Given the description of an element on the screen output the (x, y) to click on. 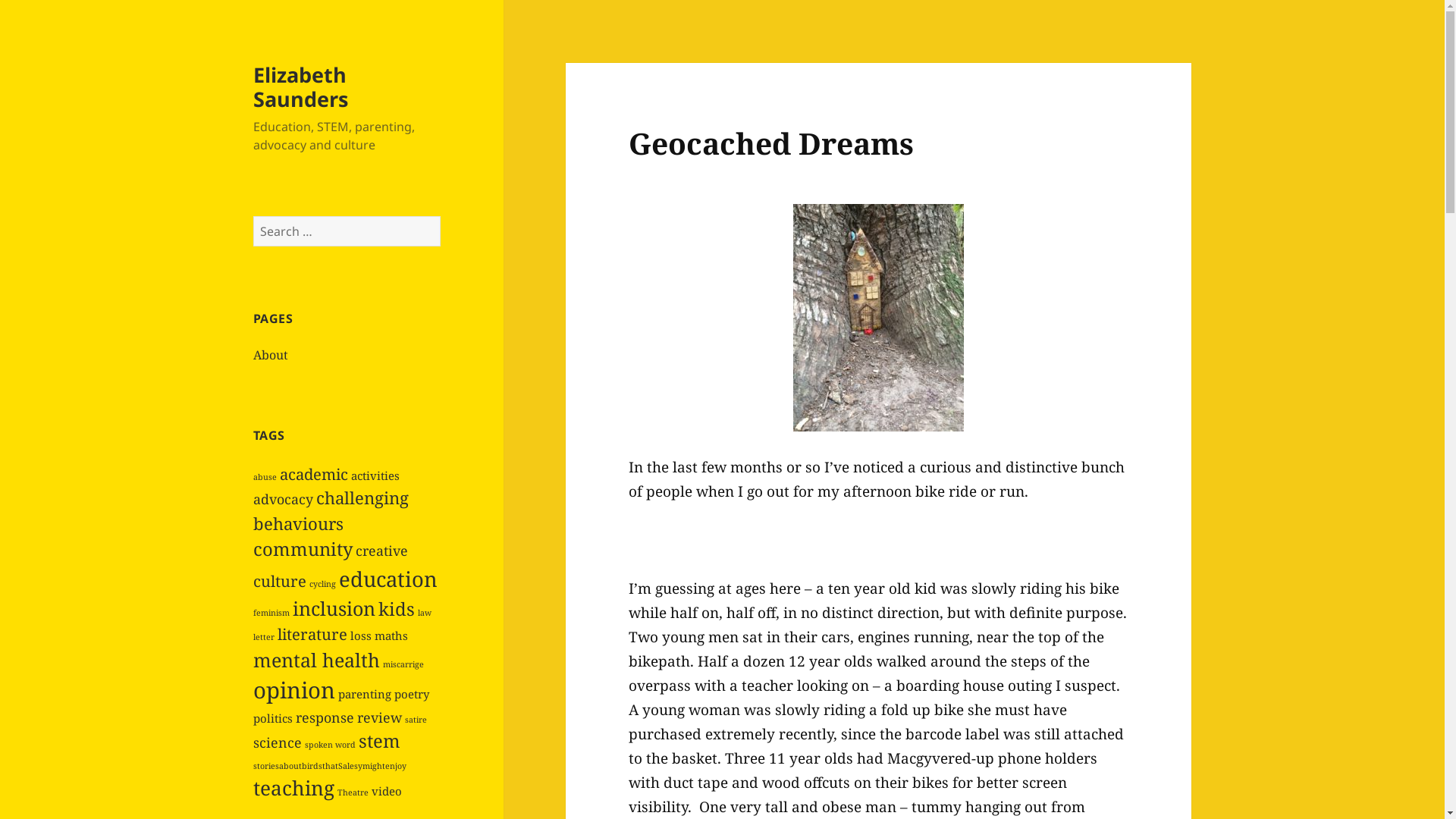
abuse Element type: text (264, 476)
Elizabeth Saunders Element type: text (300, 86)
creative Element type: text (381, 550)
challenging behaviours Element type: text (330, 509)
law Element type: text (424, 612)
loss Element type: text (360, 635)
parenting Element type: text (364, 693)
literature Element type: text (312, 633)
video Element type: text (386, 790)
activities Element type: text (375, 475)
letter Element type: text (263, 636)
teaching Element type: text (293, 787)
Search Element type: text (440, 216)
community Element type: text (302, 548)
miscarrige Element type: text (402, 663)
kids Element type: text (396, 608)
storiesaboutbirdsthatSalesymightenjoy Element type: text (329, 765)
review Element type: text (379, 717)
Theatre Element type: text (352, 792)
feminism Element type: text (271, 612)
culture Element type: text (279, 580)
education Element type: text (387, 578)
spoken word Element type: text (329, 744)
politics Element type: text (272, 717)
academic Element type: text (313, 473)
cycling Element type: text (322, 583)
satire Element type: text (415, 719)
poetry Element type: text (411, 693)
opinion Element type: text (294, 689)
mental health Element type: text (316, 659)
inclusion Element type: text (333, 608)
science Element type: text (277, 742)
response Element type: text (324, 717)
maths Element type: text (390, 635)
advocacy Element type: text (283, 498)
stem Element type: text (379, 740)
About Element type: text (270, 354)
